Given the description of an element on the screen output the (x, y) to click on. 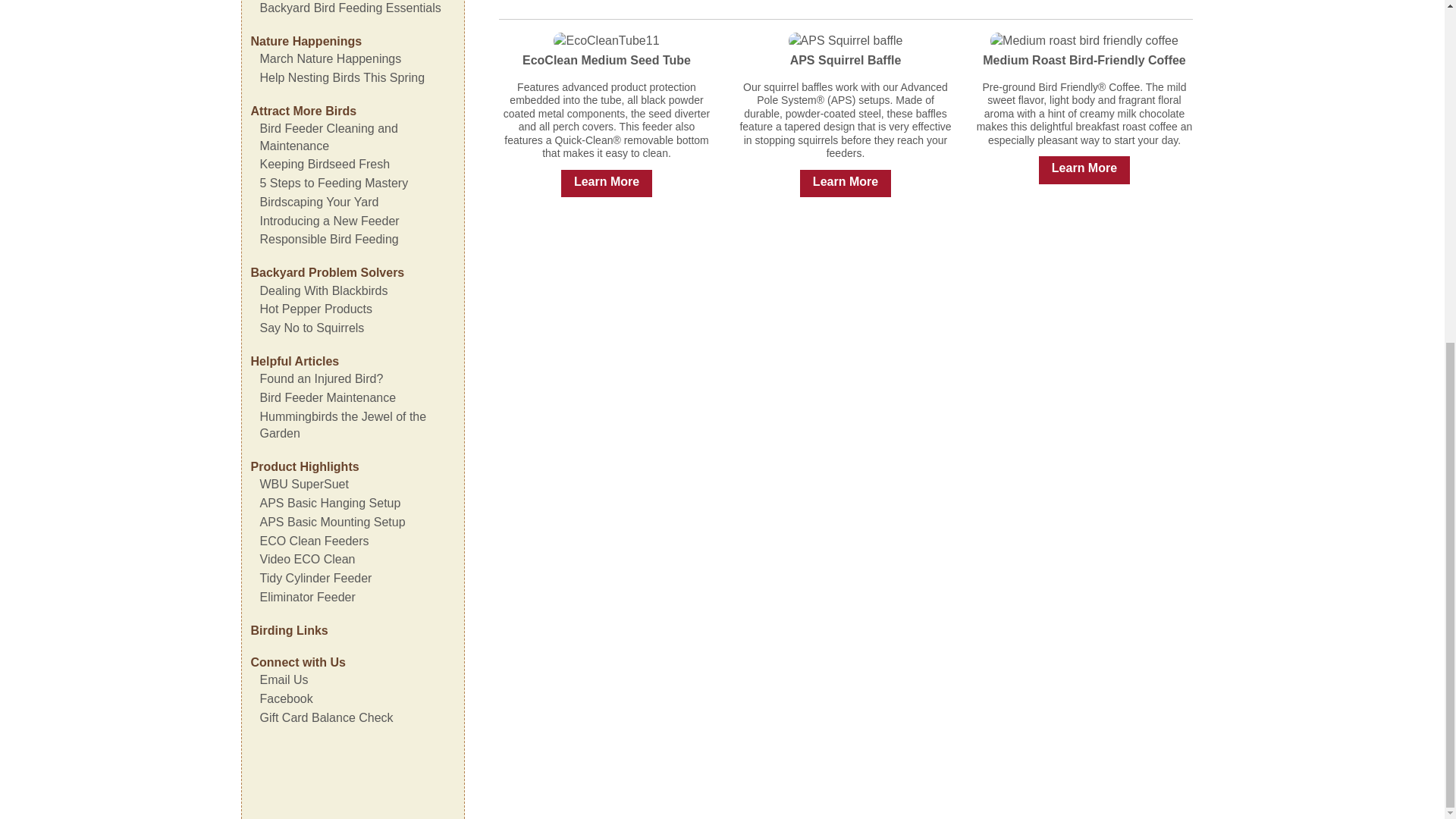
APS Basic Mounting Setup (331, 521)
WBU SuperSuet (303, 483)
Hot Pepper Products (315, 308)
Help Nesting Birds This Spring (342, 77)
5 Steps to Feeding Mastery (333, 182)
Introducing a New Feeder (328, 220)
APS Basic Hanging Setup (329, 502)
Birdscaping Your Yard (318, 201)
Dealing With Blackbirds (323, 290)
Helpful Articles (294, 360)
